Given the description of an element on the screen output the (x, y) to click on. 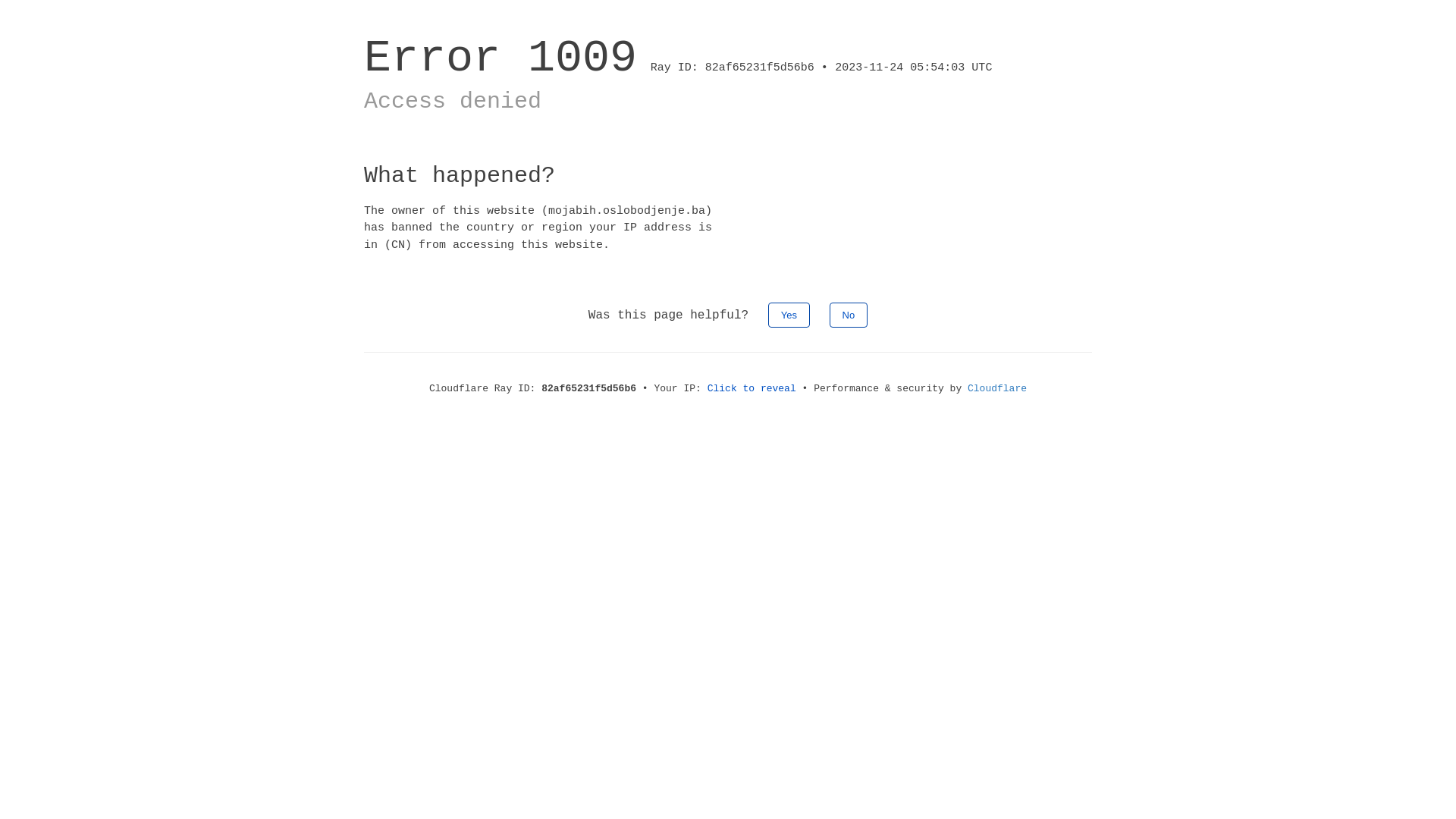
No Element type: text (848, 314)
Click to reveal Element type: text (751, 388)
Yes Element type: text (788, 314)
Cloudflare Element type: text (996, 388)
